Given the description of an element on the screen output the (x, y) to click on. 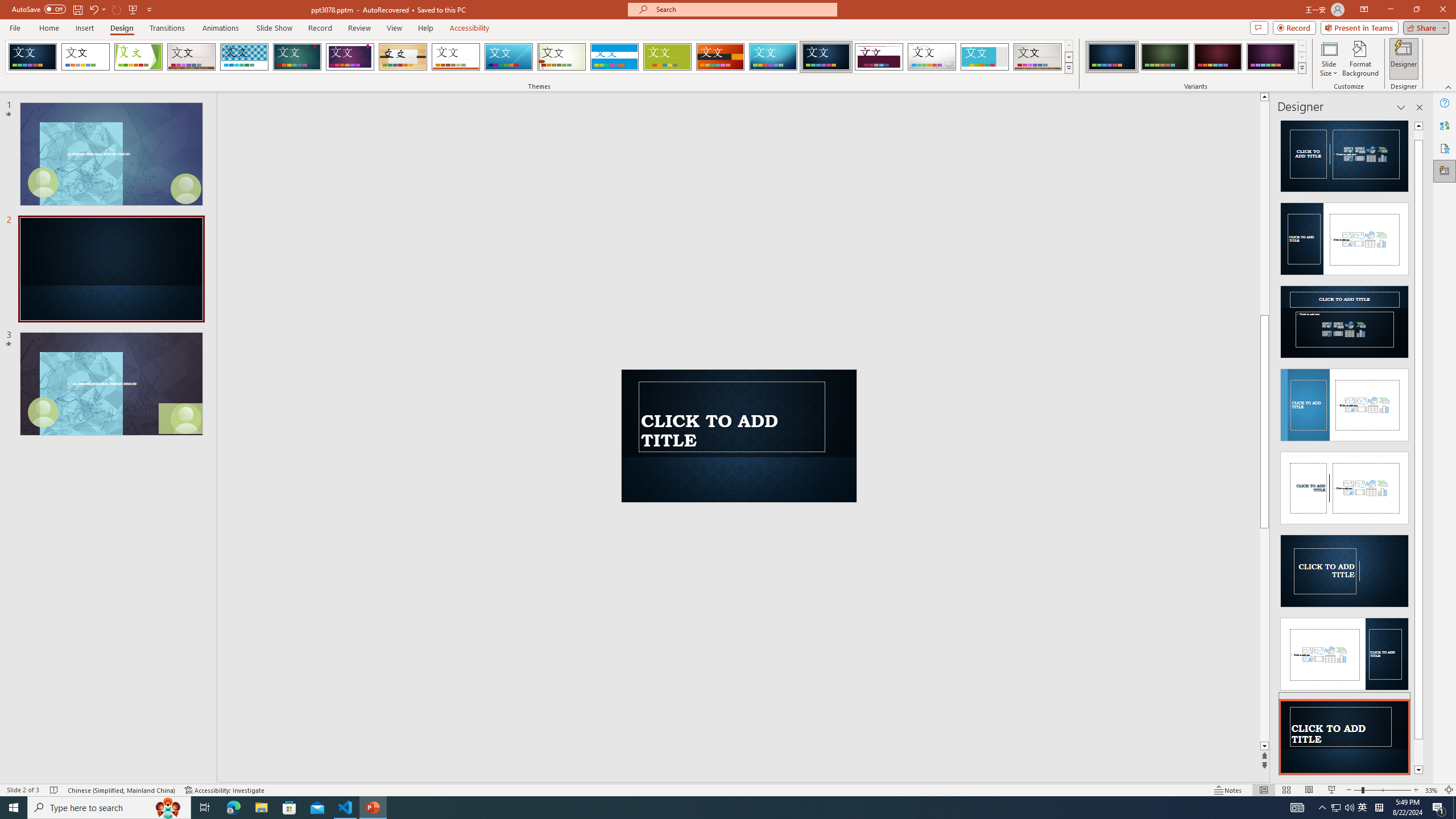
Damask Variant 3 (1217, 56)
Damask Variant 2 (1164, 56)
Zoom 33% (1431, 790)
